Given the description of an element on the screen output the (x, y) to click on. 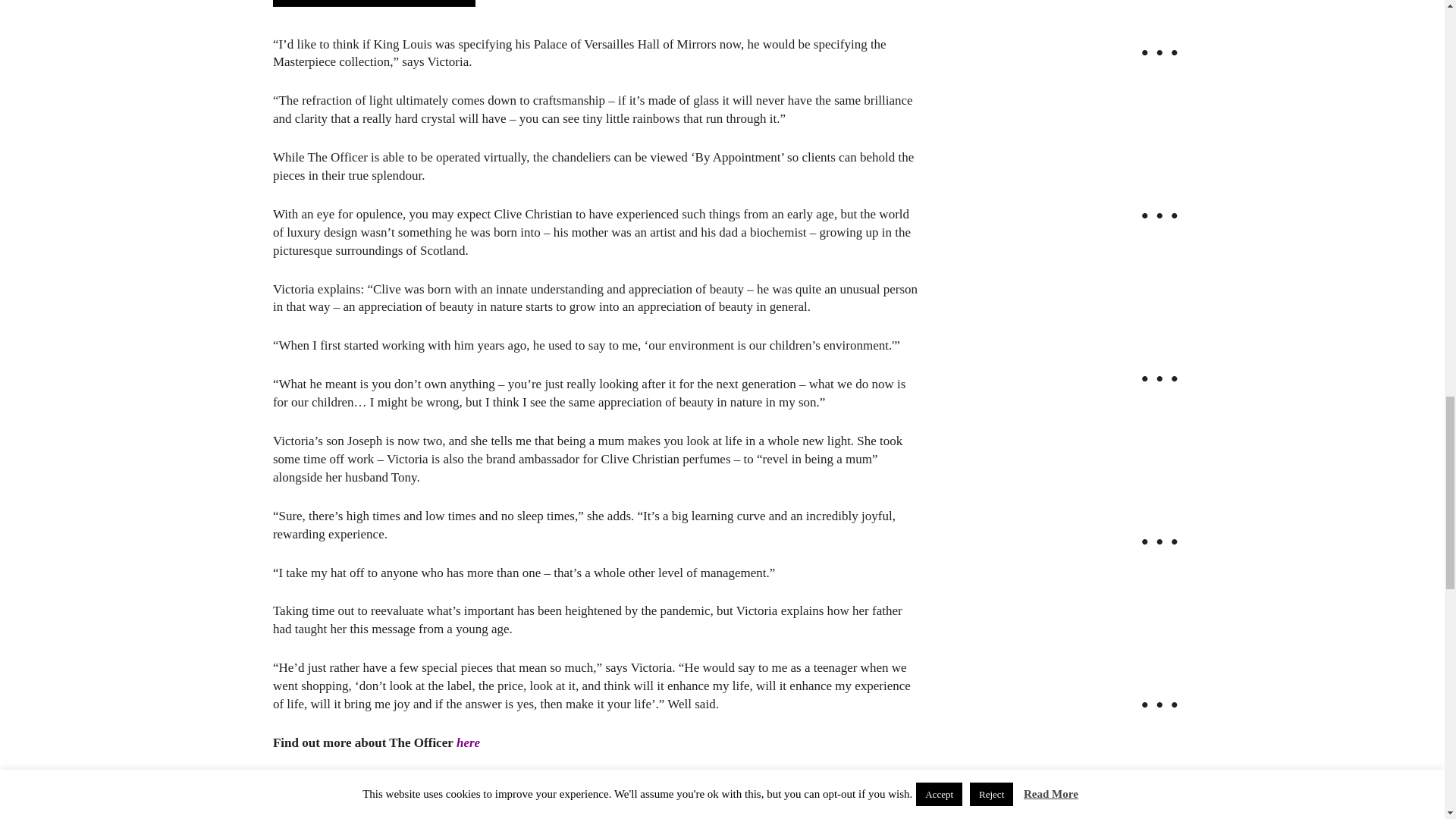
Share "The Officer" via Facebook (591, 812)
Share "The Officer" via Email (651, 812)
Share "The Officer" via Twitter (622, 812)
